Given the description of an element on the screen output the (x, y) to click on. 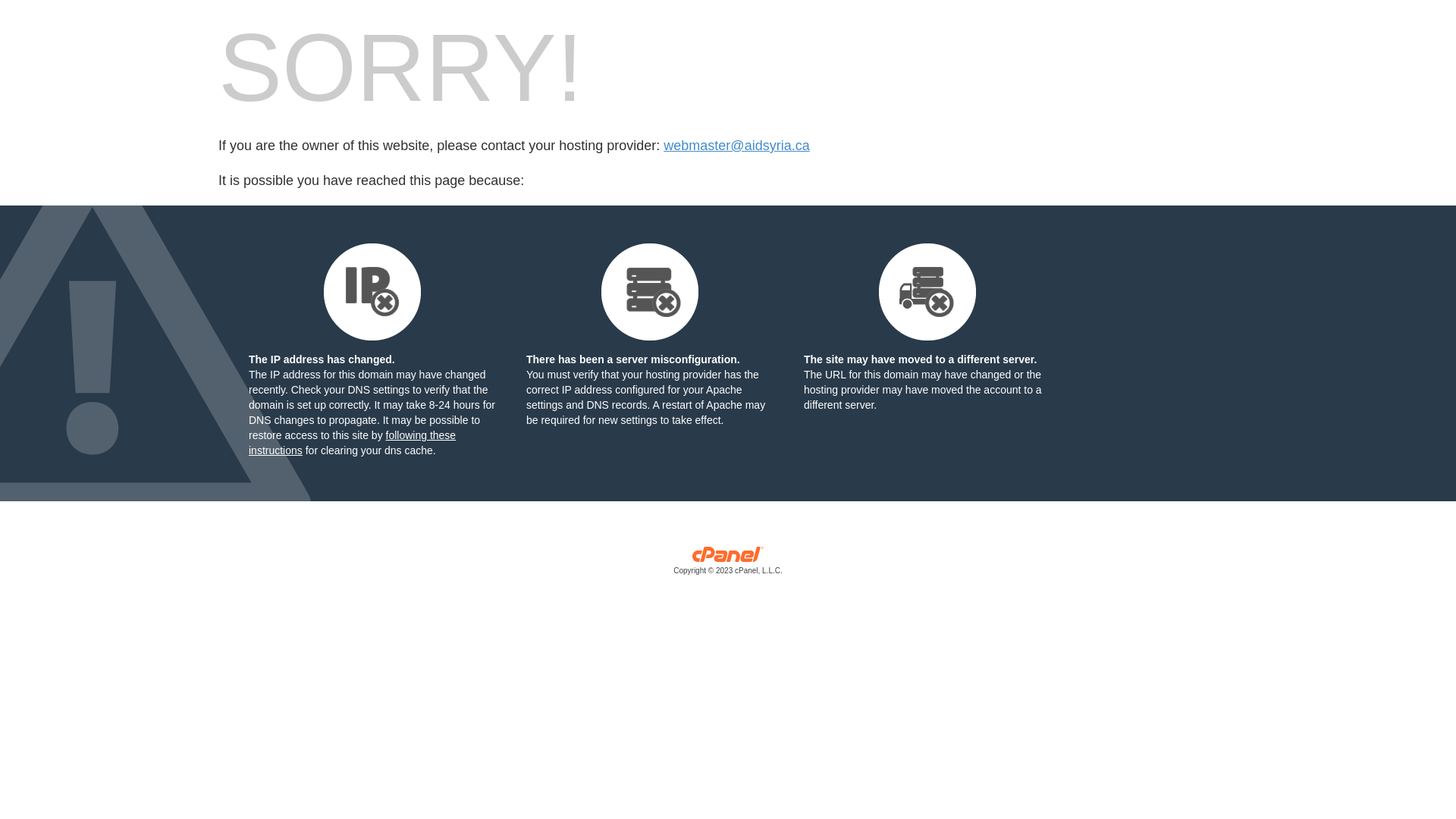
webmaster@aidsyria.ca Element type: text (736, 145)
following these instructions Element type: text (351, 442)
